Given the description of an element on the screen output the (x, y) to click on. 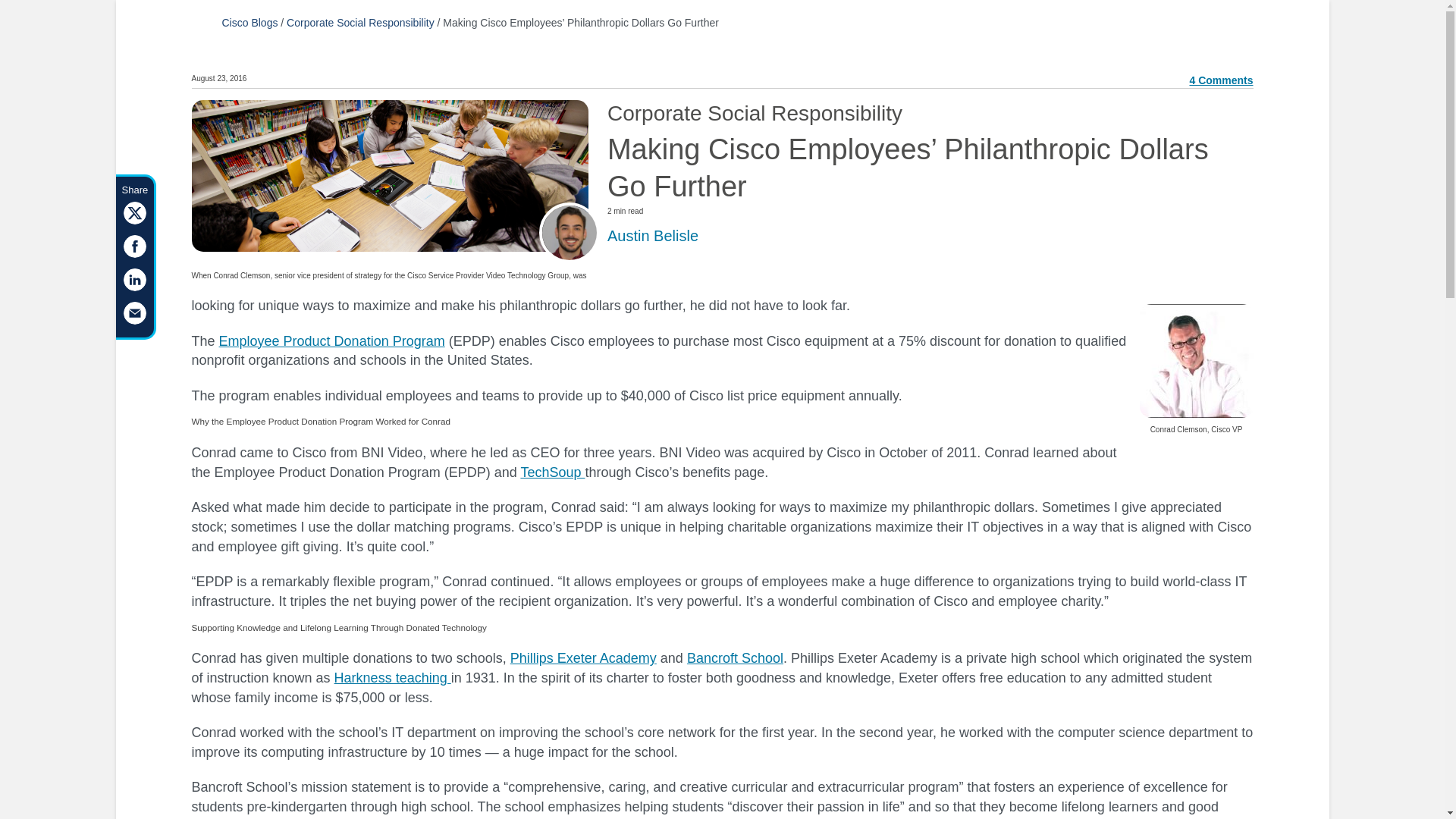
Bancroft School (735, 657)
Cisco Blogs (249, 22)
TechSoup  (552, 472)
Harkness teaching  (392, 677)
Phillips Exeter Academy (583, 657)
Posts by Austin Belisle (652, 235)
Corporate Social Responsibility (359, 22)
Employee Product Donation Program (332, 340)
Austin Belisle (652, 235)
